Given the description of an element on the screen output the (x, y) to click on. 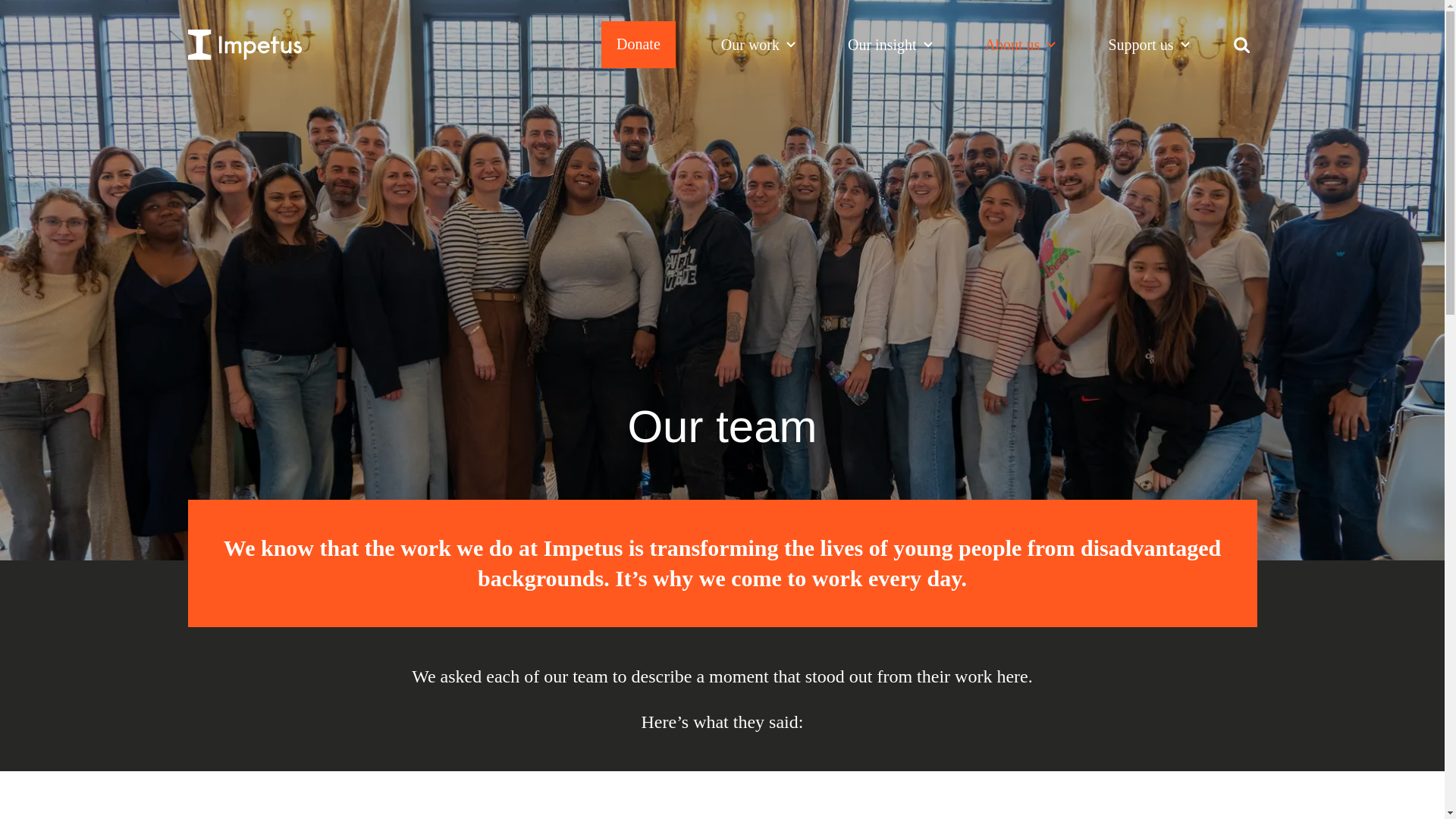
Our insight (893, 44)
Donate (638, 44)
Impetus (244, 44)
About us (1023, 44)
Search (1242, 44)
Support us (1151, 44)
Our work (761, 44)
